Given the description of an element on the screen output the (x, y) to click on. 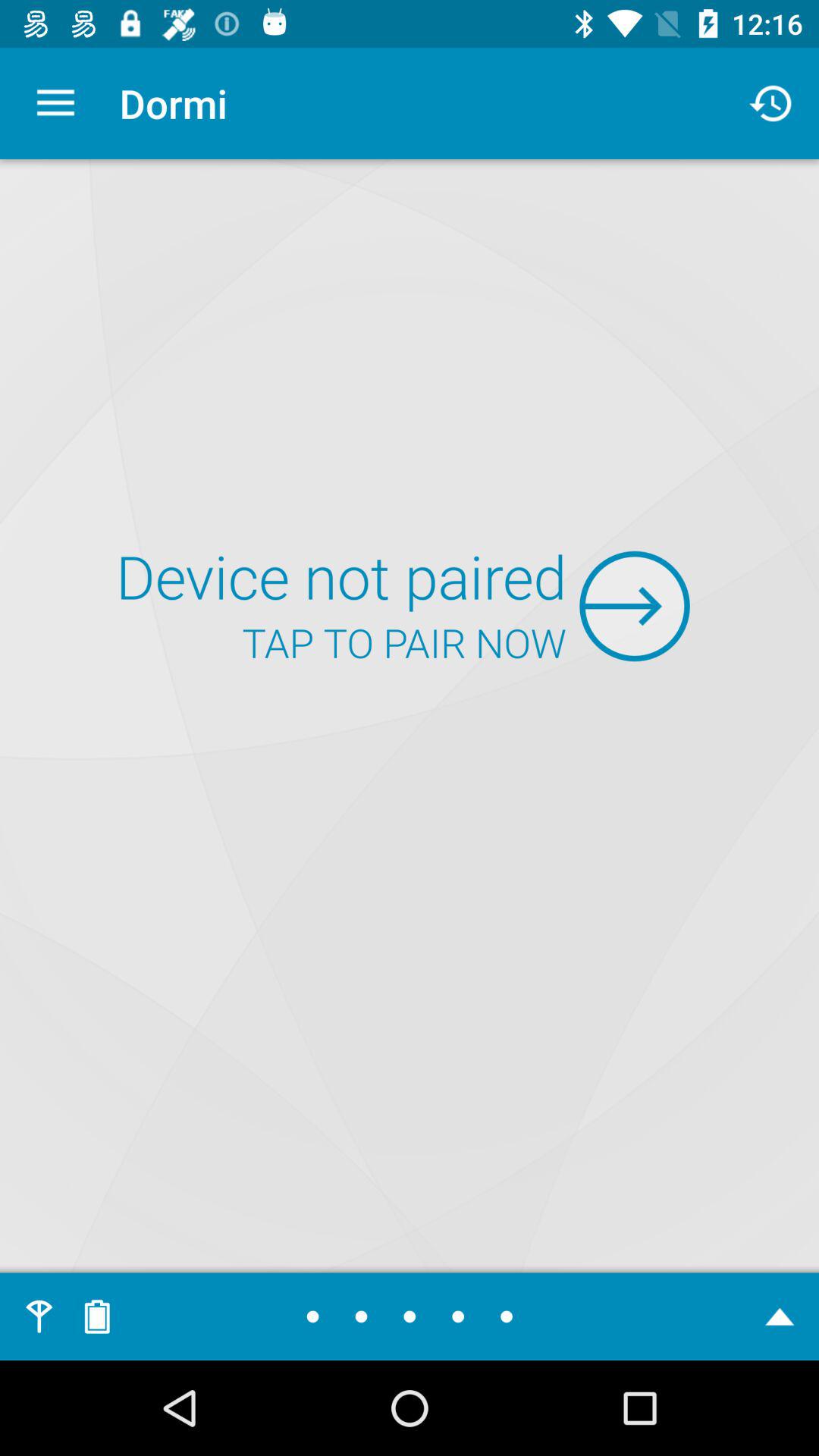
launch the icon to the right of the dormi app (771, 103)
